Given the description of an element on the screen output the (x, y) to click on. 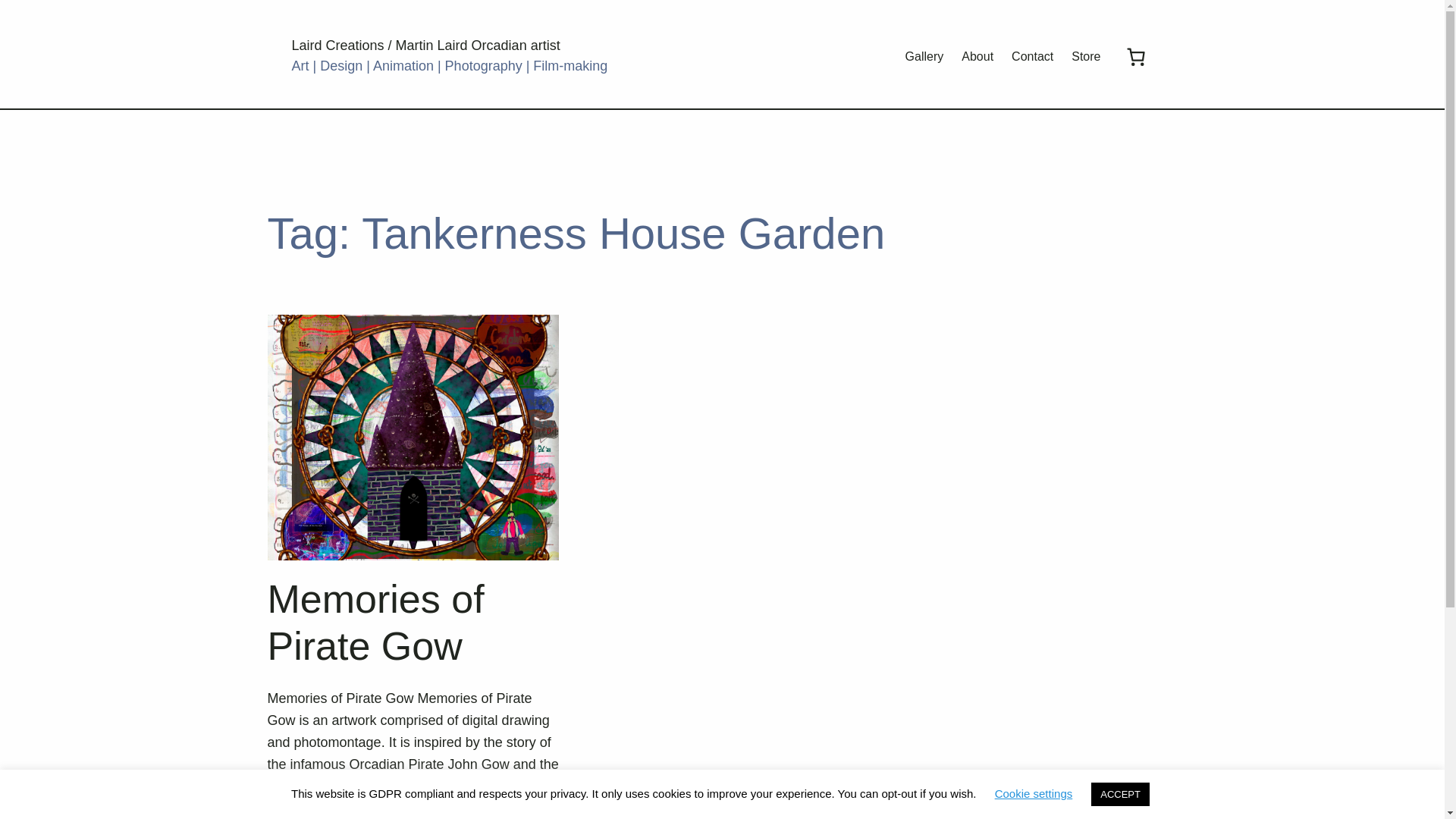
Store (1085, 56)
Gallery (924, 56)
Contact (1031, 56)
Memories of Pirate Gow (412, 622)
Cookie settings (1033, 793)
About (976, 56)
ACCEPT (1120, 793)
